Given the description of an element on the screen output the (x, y) to click on. 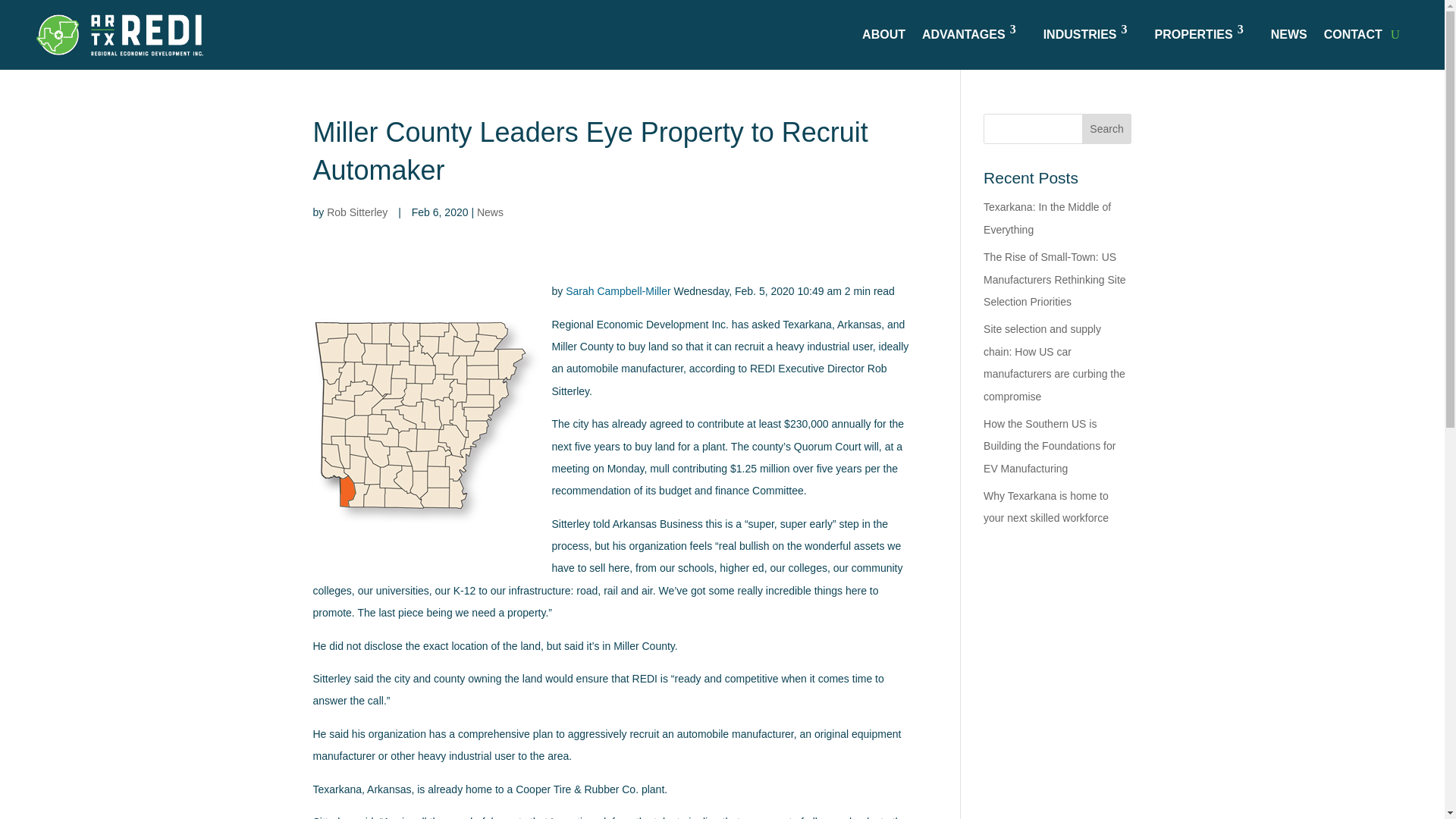
NEWS (1289, 34)
Posts by Rob Sitterley (356, 212)
PROPERTIES (1203, 34)
CONTACT (1352, 34)
Search (1106, 128)
ABOUT (883, 34)
ADVANTAGES (973, 34)
INDUSTRIES (1090, 34)
